Given the description of an element on the screen output the (x, y) to click on. 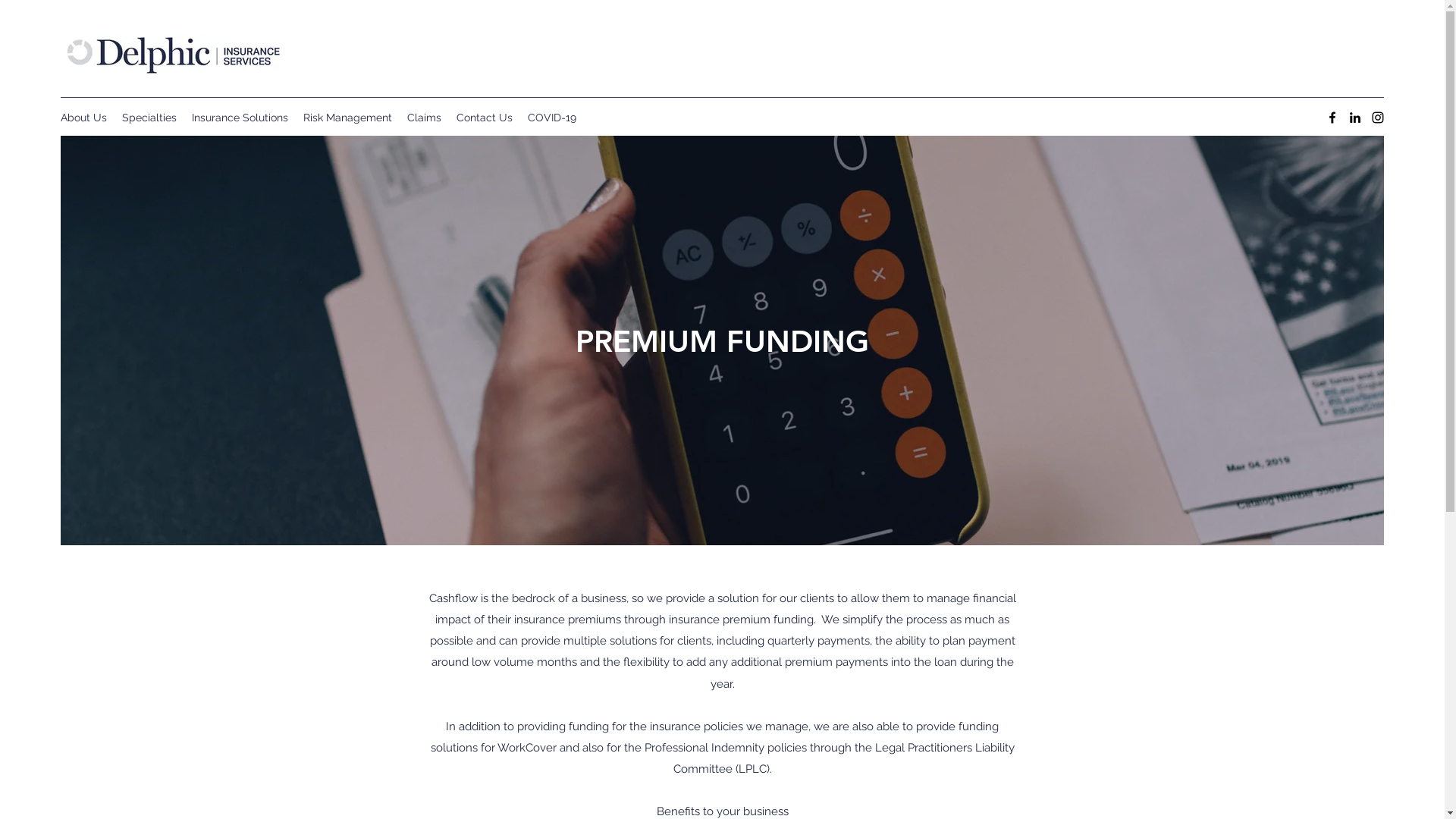
COVID-19 Element type: text (551, 117)
Contact Us Element type: text (484, 117)
Insurance Solutions Element type: text (239, 117)
Risk Management Element type: text (347, 117)
About Us Element type: text (83, 117)
Claims Element type: text (423, 117)
Specialties Element type: text (149, 117)
